Given the description of an element on the screen output the (x, y) to click on. 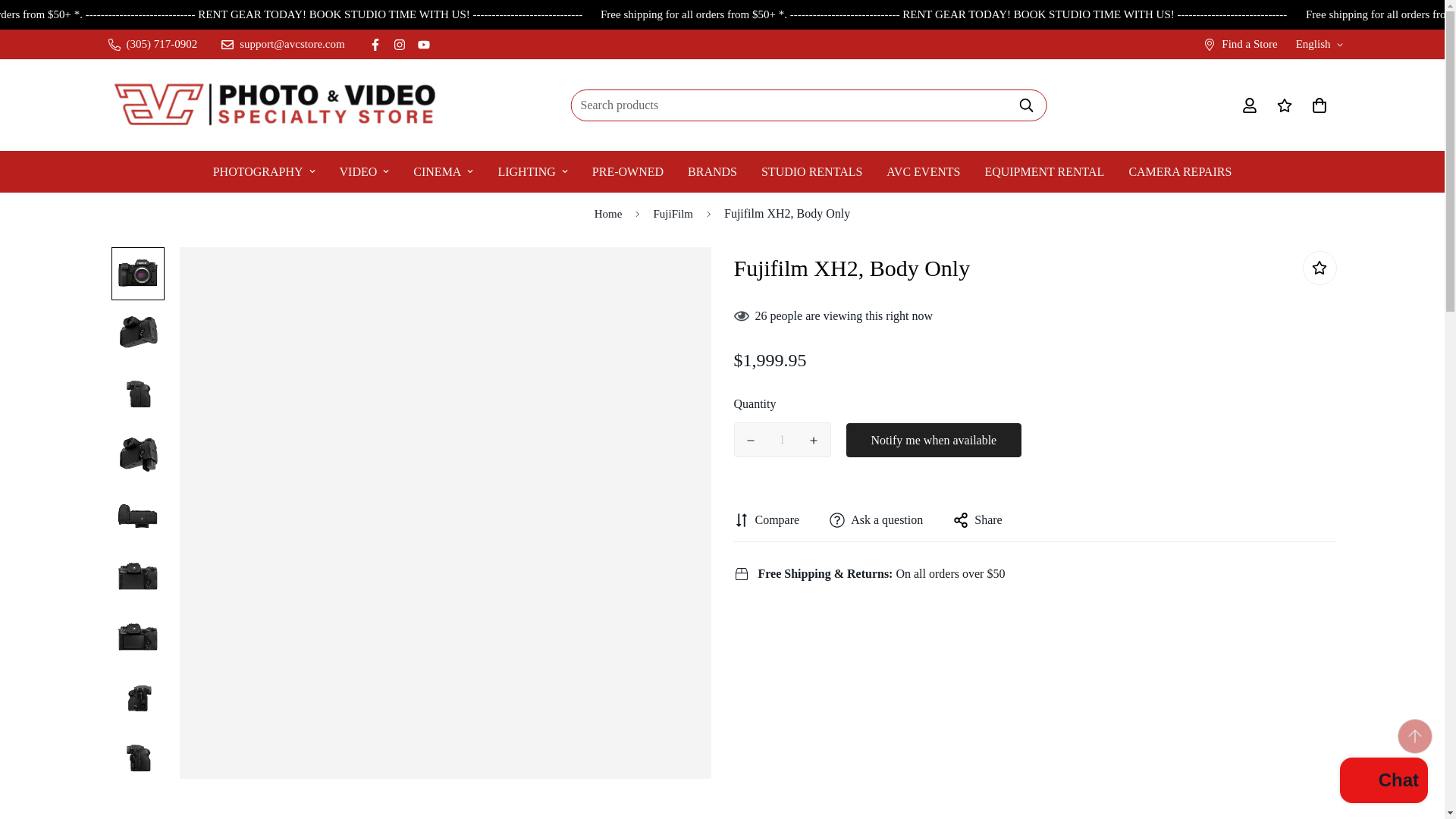
Find a Store (1239, 44)
1 (782, 439)
Shopify online store chat (1383, 781)
Back to the home page (608, 214)
